Given the description of an element on the screen output the (x, y) to click on. 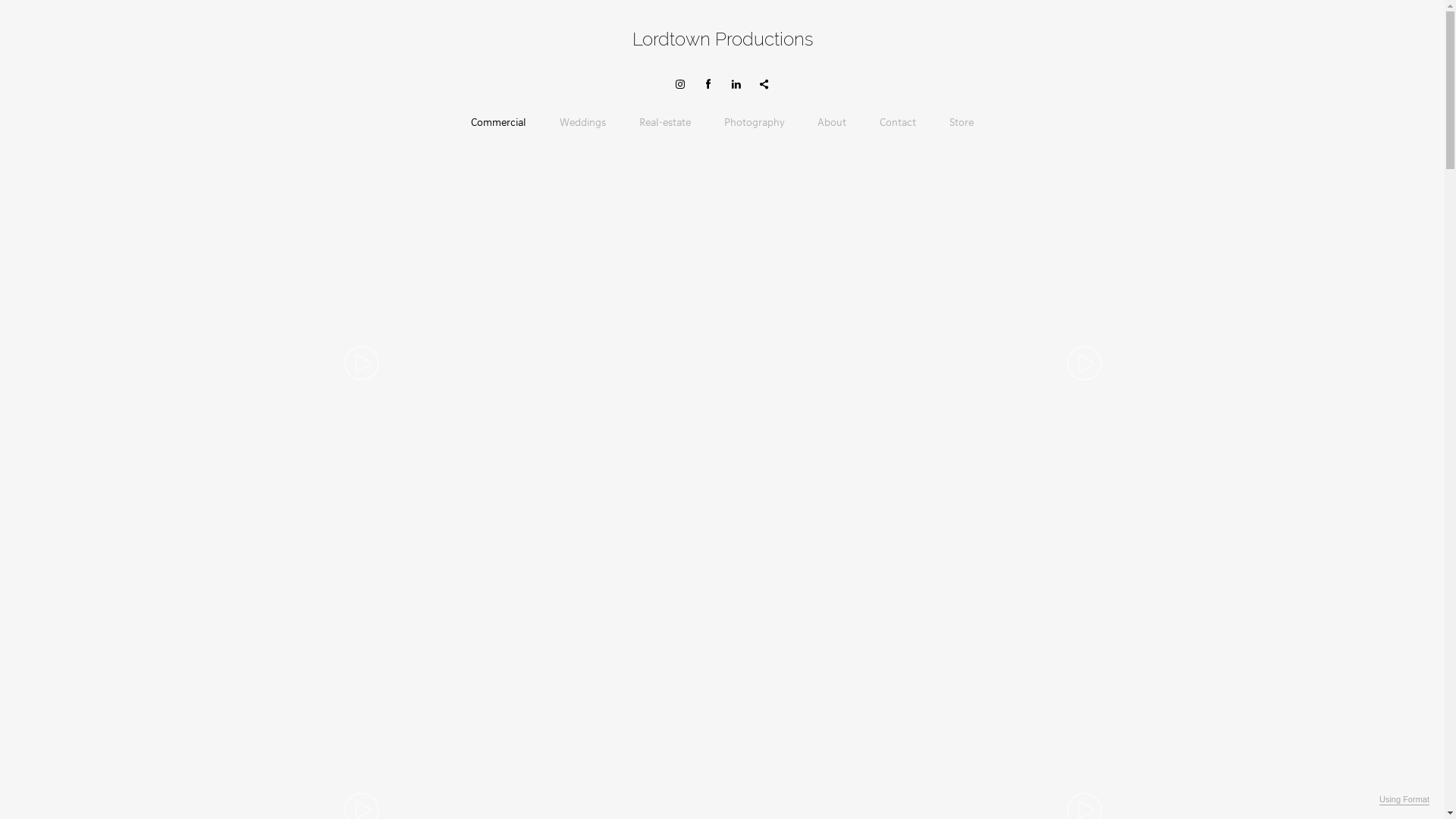
Lordtown Productions Element type: text (722, 39)
Using Format Element type: text (1404, 799)
Commercial Element type: text (498, 122)
About Element type: text (831, 122)
LinkedIn Element type: hover (736, 84)
Weddings Element type: text (582, 122)
Photography Element type: text (754, 122)
Instagram Element type: hover (679, 84)
Share Element type: hover (764, 84)
Facebook Element type: hover (707, 84)
Contact Element type: text (897, 122)
Store Element type: text (961, 122)
Real-estate Element type: text (664, 122)
